Given the description of an element on the screen output the (x, y) to click on. 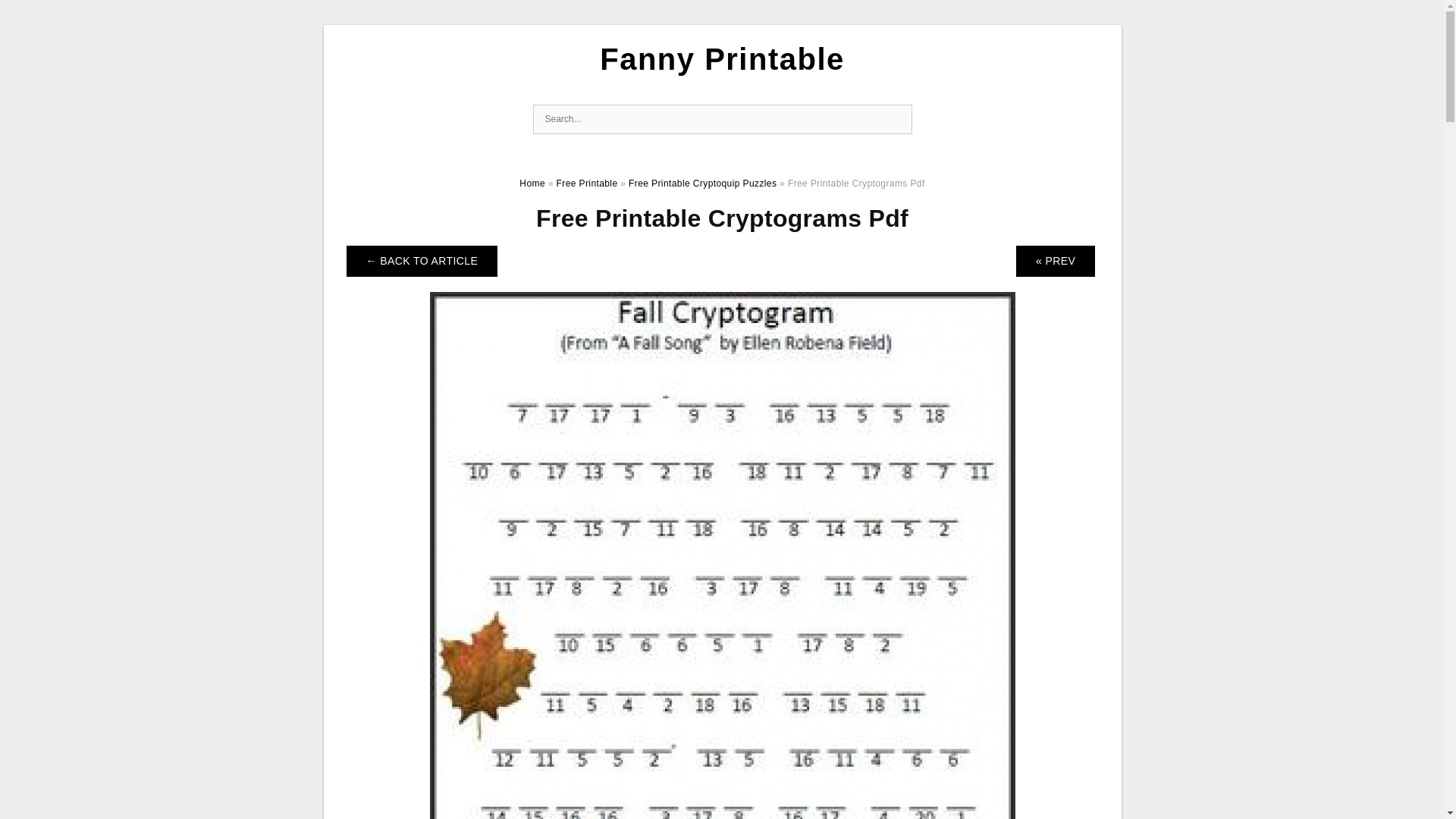
Free Printable Cryptograms Pdf (721, 679)
Fanny Printable (721, 59)
Search for: (721, 119)
Home (531, 183)
Return to Free Printable Cryptoquip Puzzles (421, 260)
Search (895, 119)
Free Printable (586, 183)
Free Printable Cryptoquip Puzzles (702, 183)
Search (895, 119)
